Given the description of an element on the screen output the (x, y) to click on. 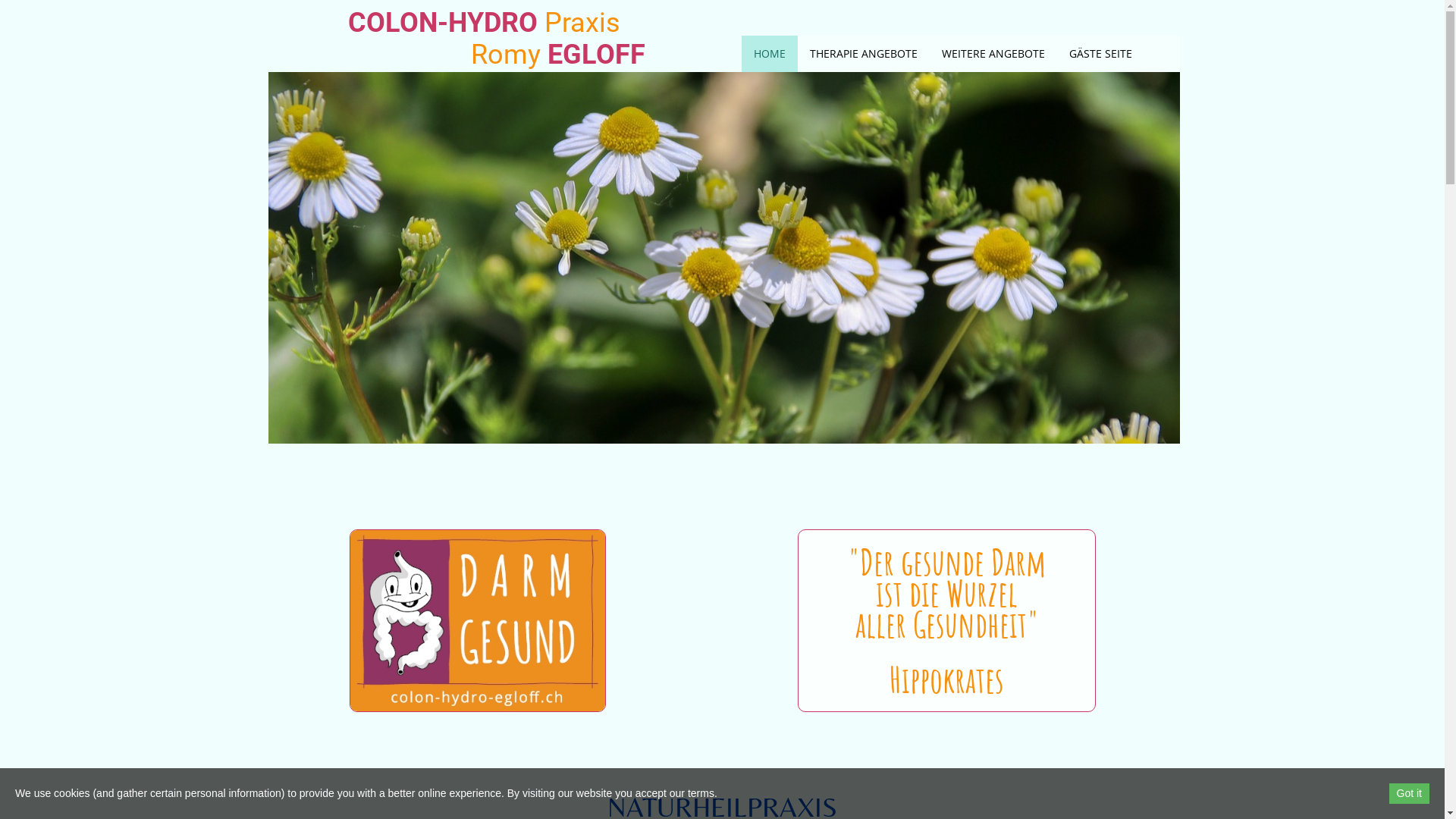
HOME Element type: text (769, 53)
THERAPIE ANGEBOTE Element type: text (863, 53)
WEITERE ANGEBOTE Element type: text (993, 53)
Got it Element type: text (1409, 793)
